Given the description of an element on the screen output the (x, y) to click on. 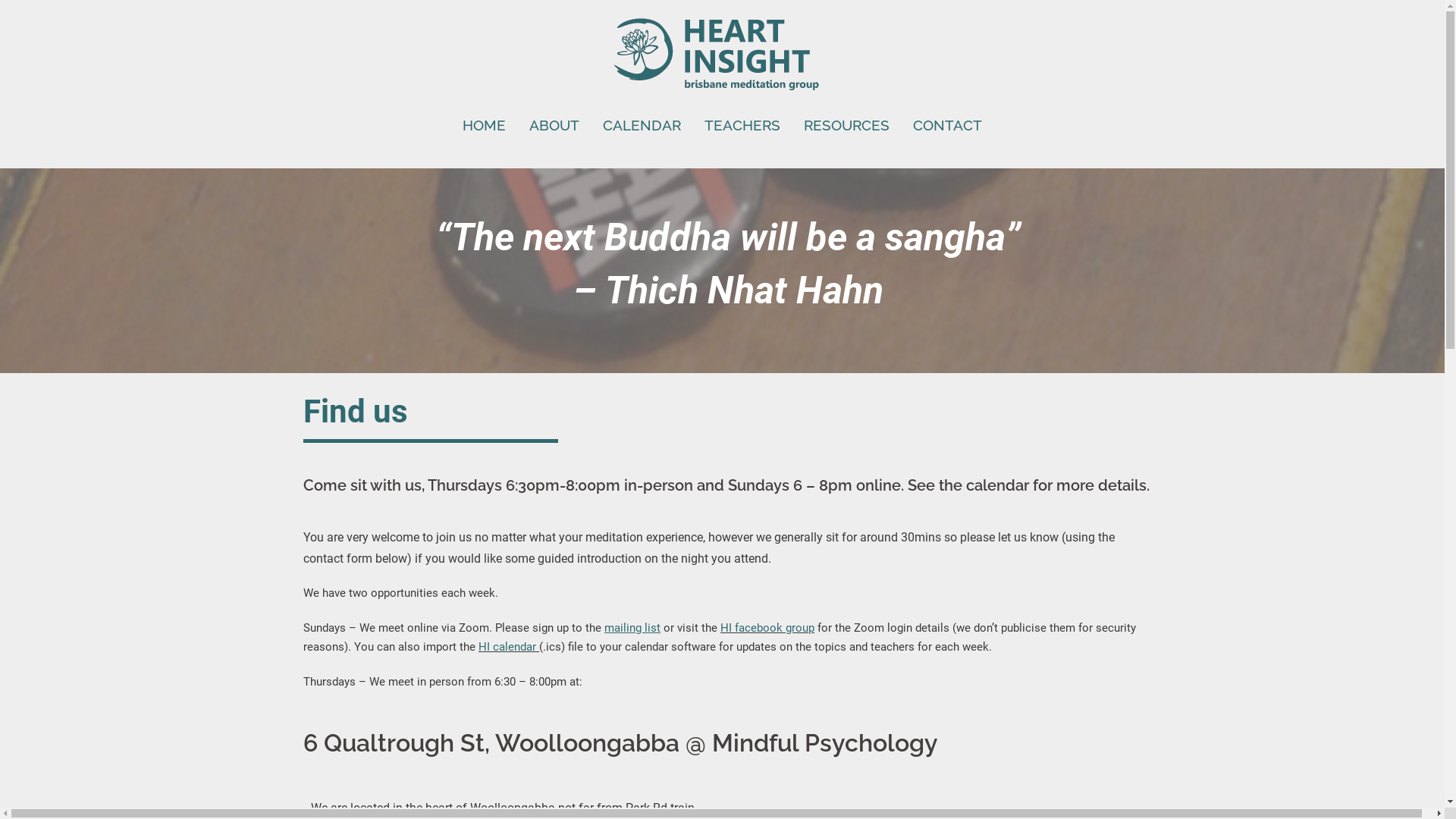
Heart Insight Element type: hover (722, 56)
RESOURCES Element type: text (846, 124)
HI facebook group Element type: text (767, 627)
CALENDAR Element type: text (641, 124)
HI calendar Element type: text (507, 646)
mailing list Element type: text (632, 627)
CONTACT Element type: text (947, 124)
TEACHERS Element type: text (742, 124)
HOME Element type: text (483, 124)
ABOUT Element type: text (554, 124)
